Given the description of an element on the screen output the (x, y) to click on. 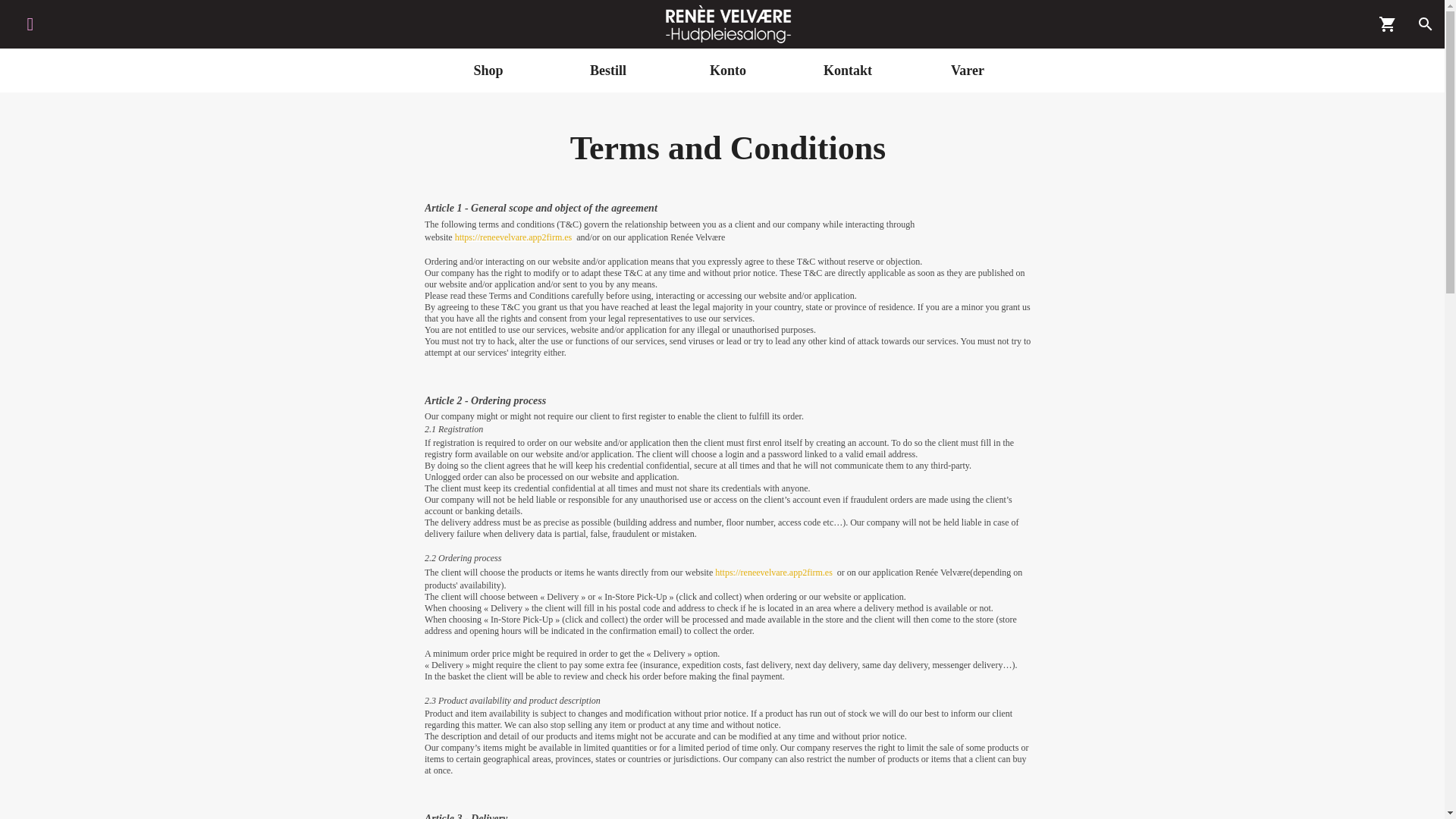
Shop (488, 70)
materialicons-sharp-2306 (1425, 24)
materialicons-sharp-2335 (1388, 23)
materialicons-sharp-2335 (1387, 24)
materialicons-sharp-2306 (1425, 23)
Konto (727, 70)
Varer (967, 70)
Kontakt (847, 70)
Bestill (608, 70)
